Given the description of an element on the screen output the (x, y) to click on. 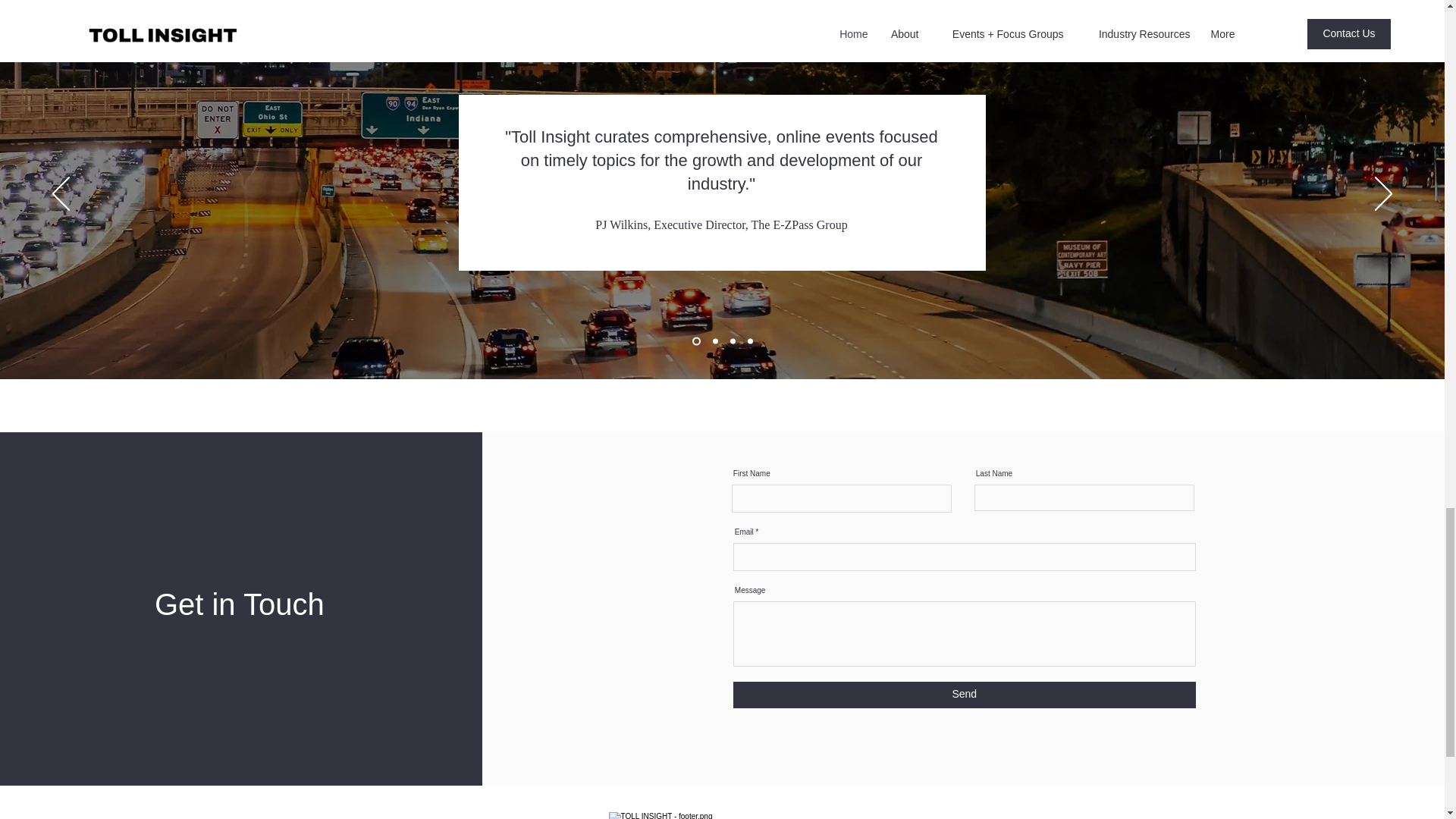
Send (964, 693)
